Given the description of an element on the screen output the (x, y) to click on. 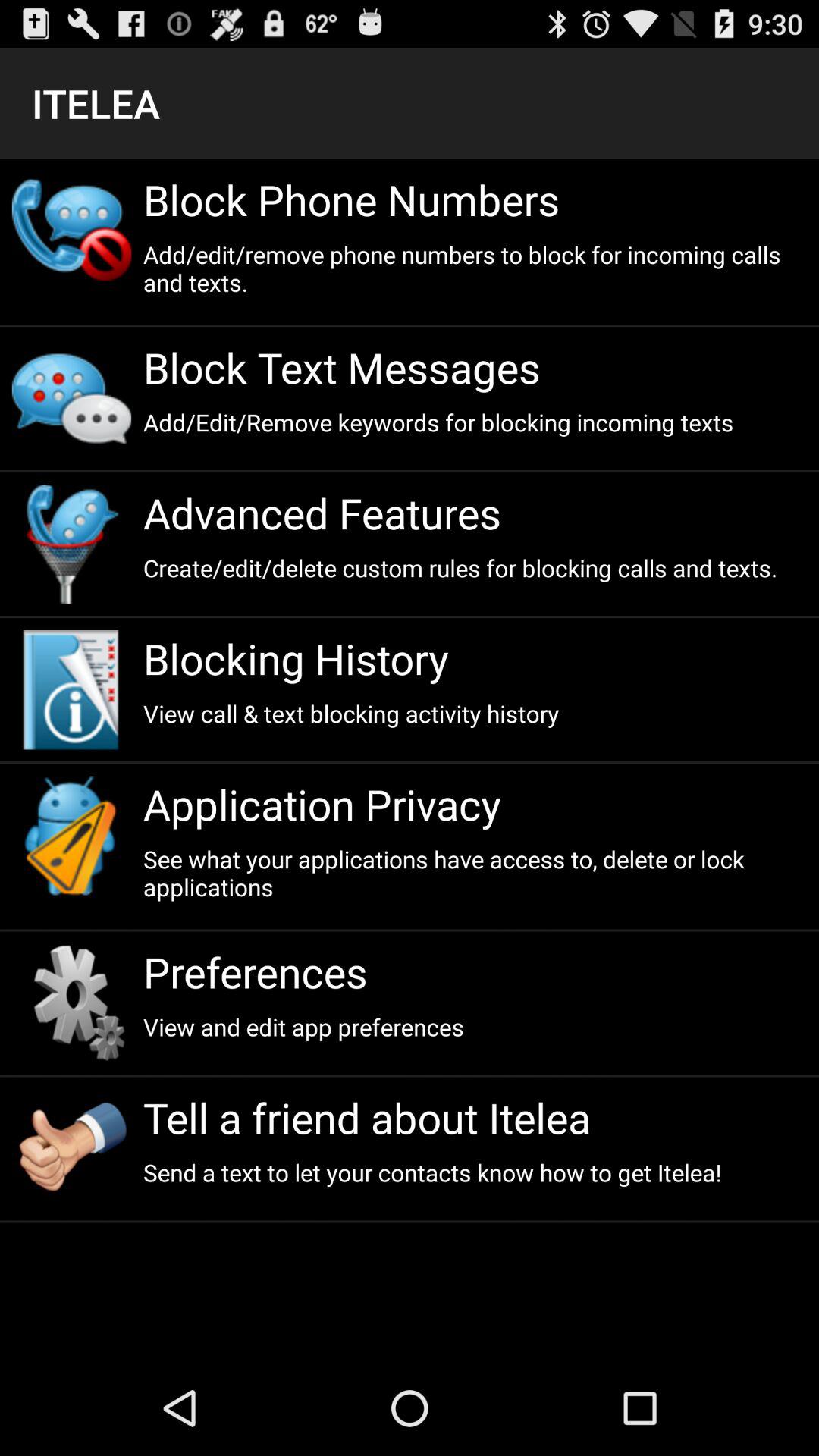
scroll to the send a text app (475, 1172)
